Given the description of an element on the screen output the (x, y) to click on. 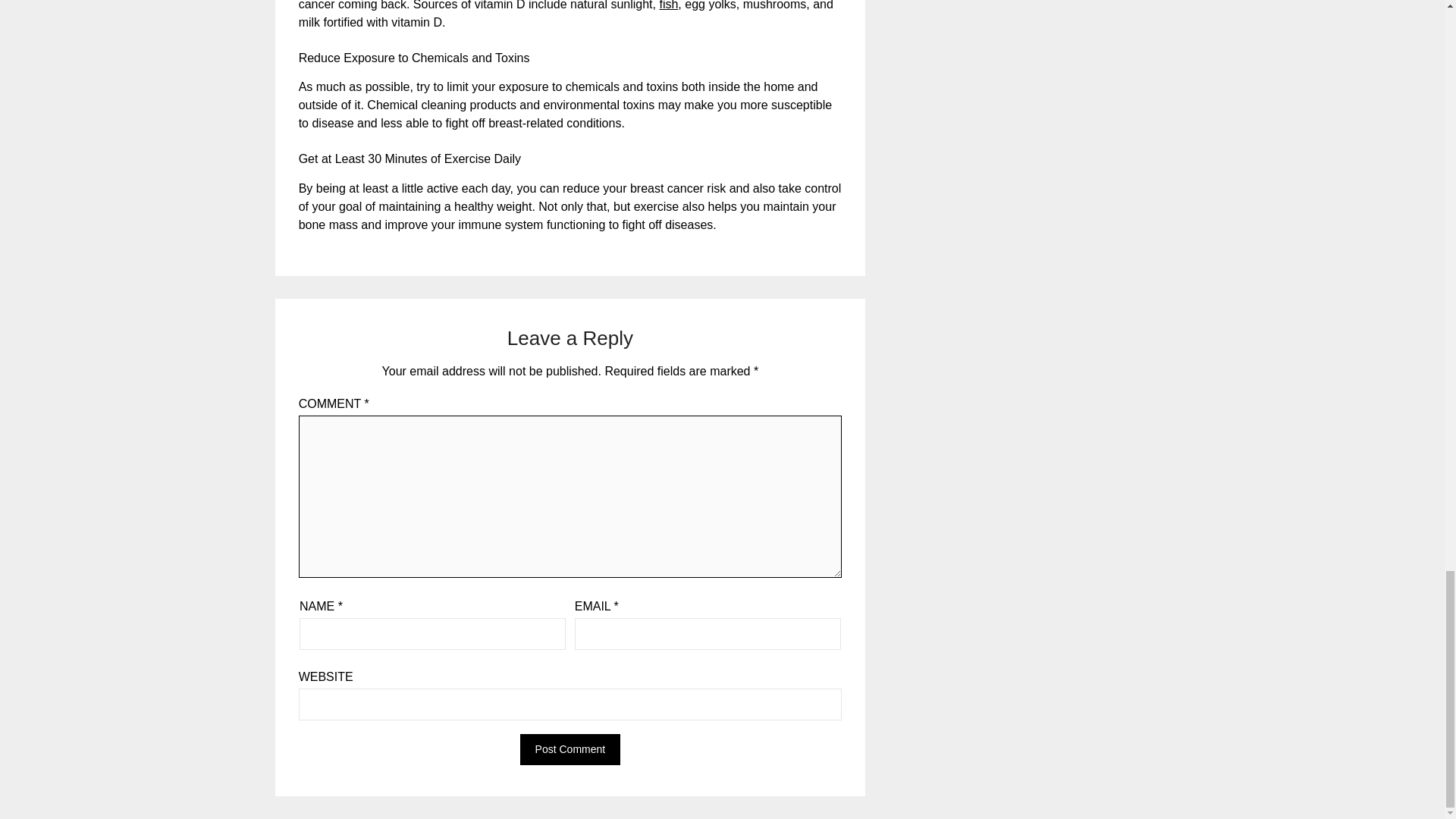
Post Comment (570, 748)
Post Comment (570, 748)
fish (668, 5)
